Given the description of an element on the screen output the (x, y) to click on. 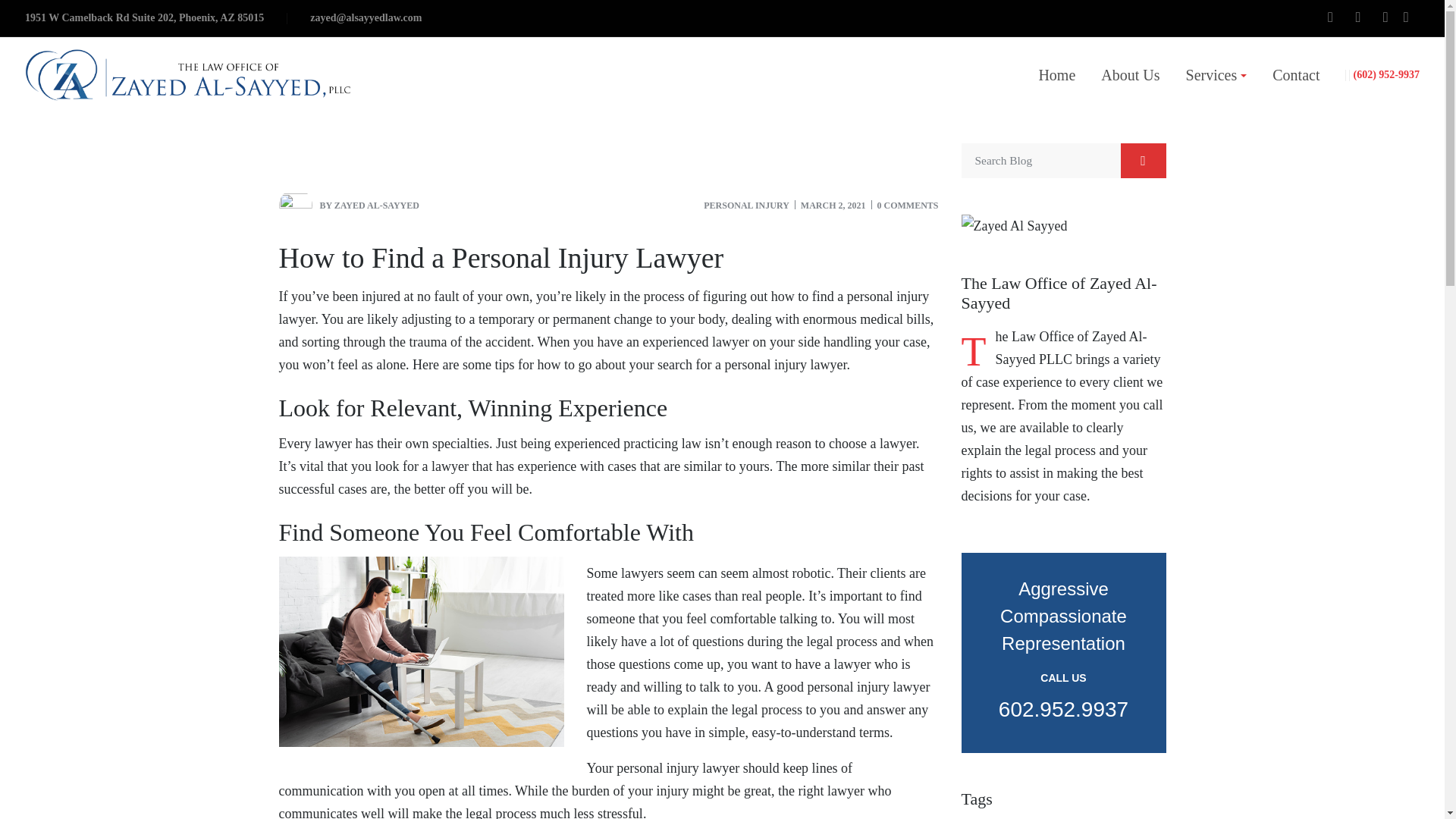
Home (1056, 74)
Contact (1295, 74)
About Us (1130, 74)
Services (1216, 74)
